Given the description of an element on the screen output the (x, y) to click on. 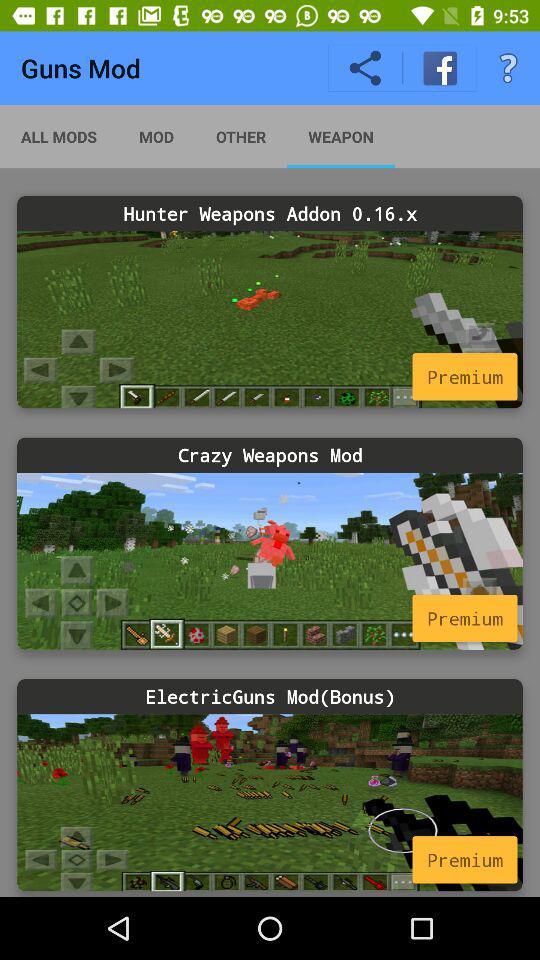
swipe to the hunter weapons addon (269, 213)
